Given the description of an element on the screen output the (x, y) to click on. 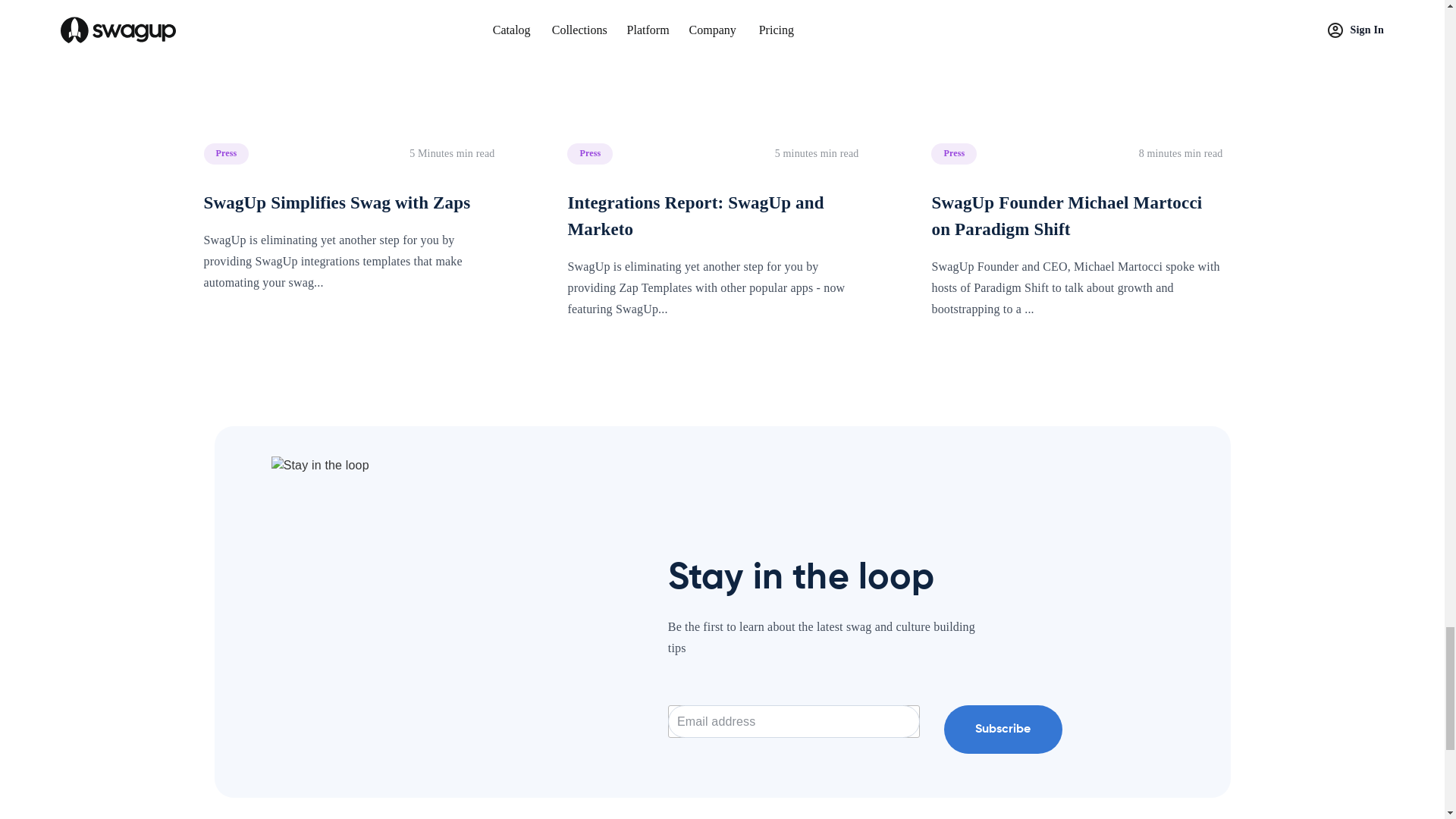
Subscribe (1002, 729)
SwagUp Founder Michael Martocci on Paradigm Shift (1076, 63)
Integrations Report: SwagUp and Marketo (712, 63)
SwagUp Simplifies Swag with Zaps (348, 63)
